Given the description of an element on the screen output the (x, y) to click on. 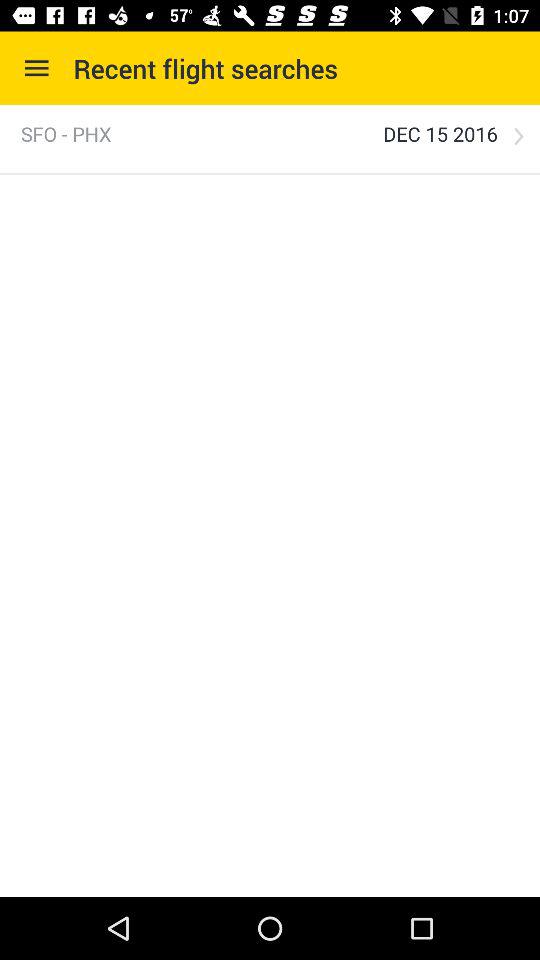
click the icon above the sfo - phx icon (36, 68)
